Given the description of an element on the screen output the (x, y) to click on. 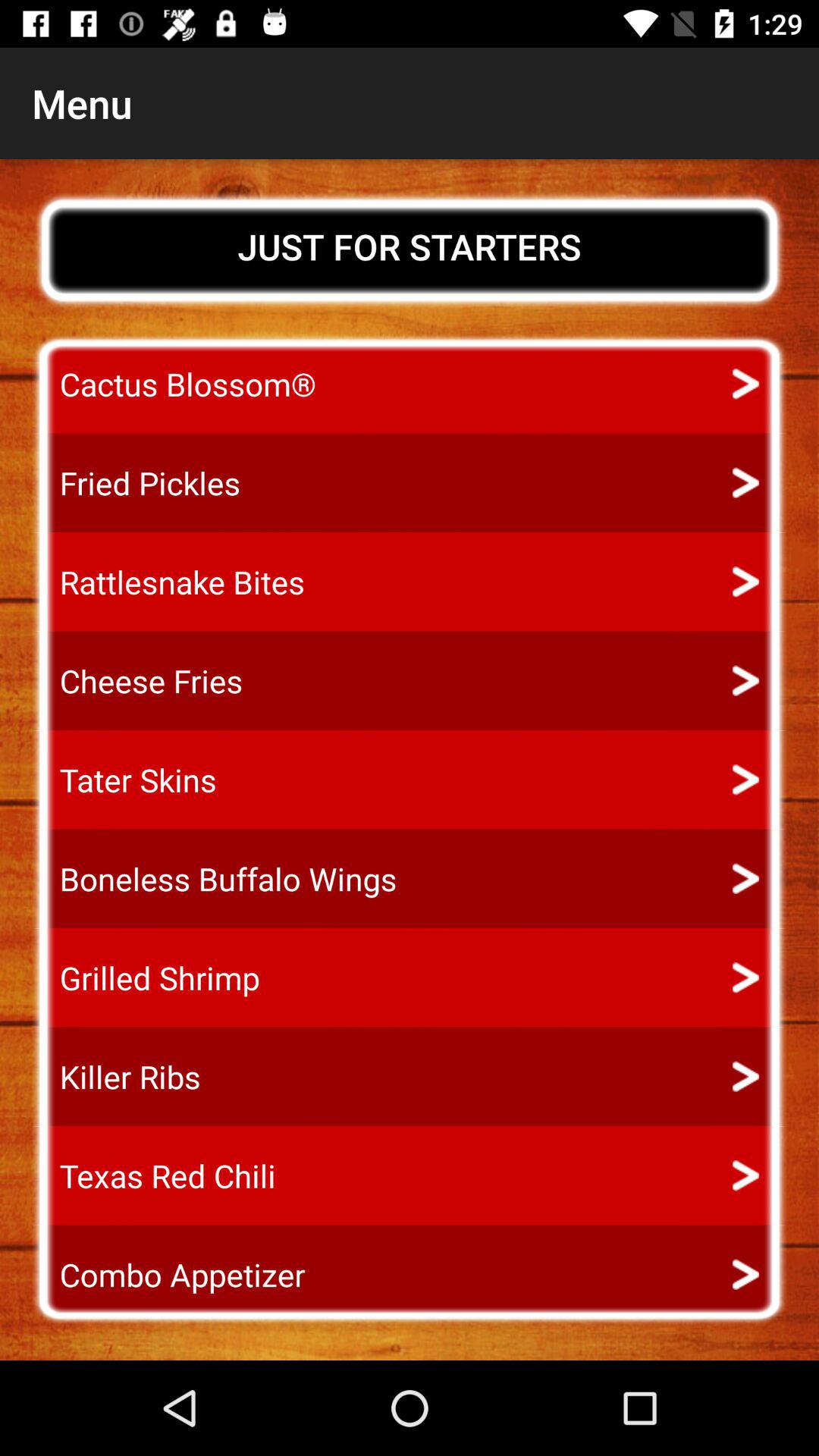
turn off the icon above the boneless buffalo wings app (123, 779)
